Given the description of an element on the screen output the (x, y) to click on. 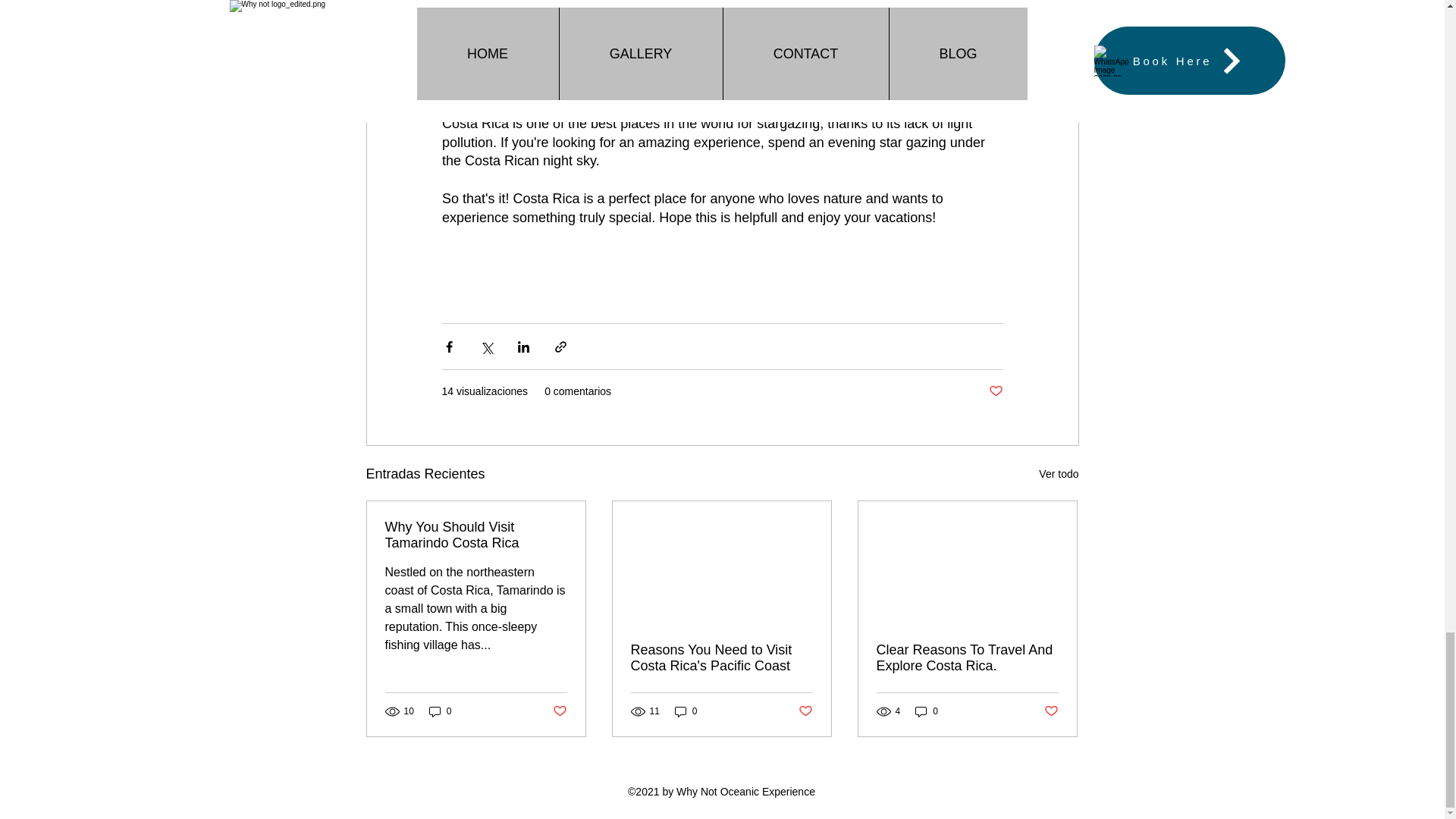
0 (685, 711)
0 (440, 711)
0 (926, 711)
Reasons You Need to Visit Costa Rica's Pacific Coast (721, 658)
Entrada no marcada como Me Gusta (804, 711)
Entrada no marcada como Me Gusta (558, 711)
Entrada no marcada como Me Gusta (1050, 711)
Why You Should Visit Tamarindo Costa Rica (476, 535)
Clear Reasons To Travel And Explore Costa Rica. (967, 658)
Ver todo (1058, 474)
